Given the description of an element on the screen output the (x, y) to click on. 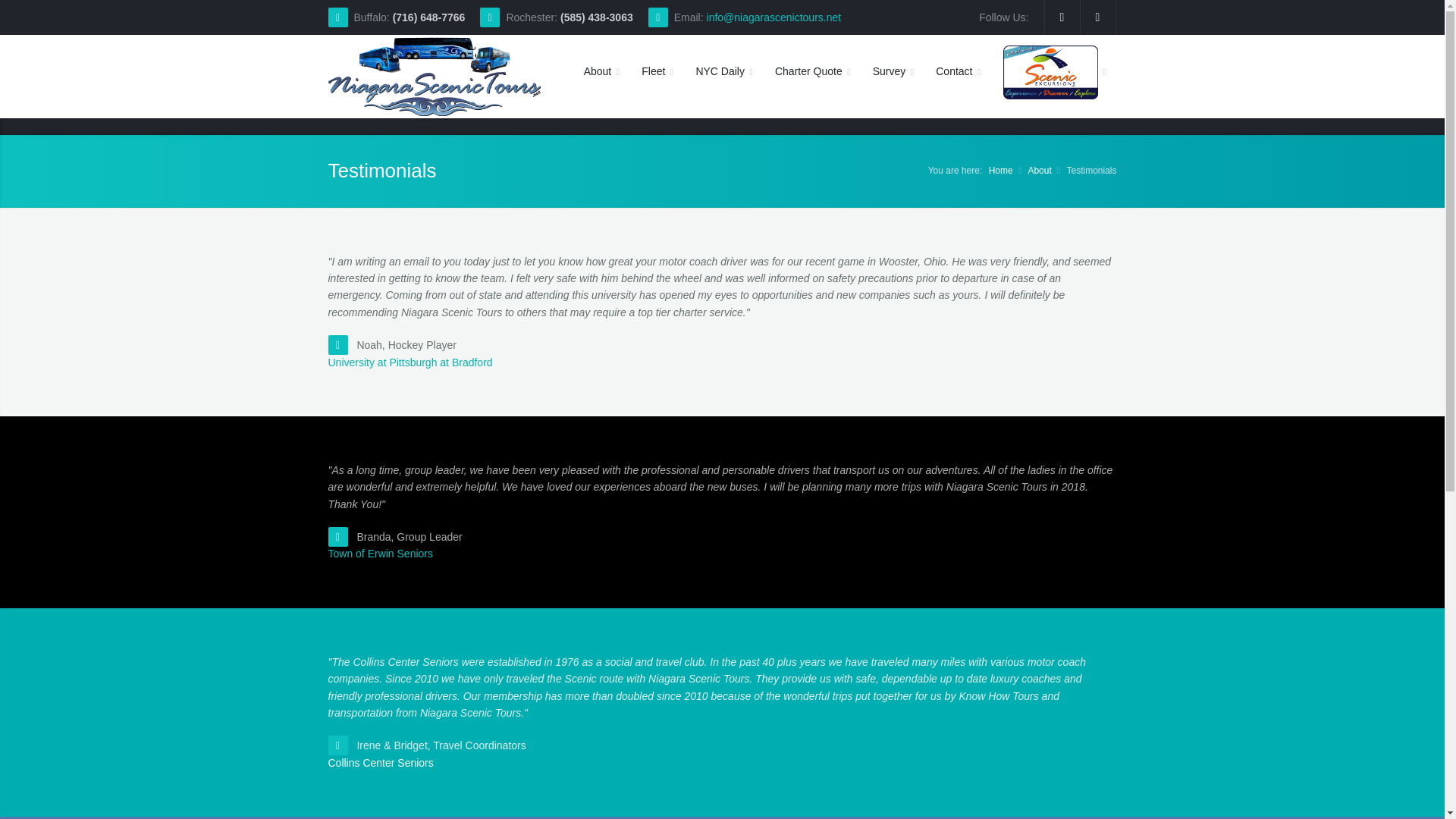
NYC Daily (723, 71)
Home (1000, 170)
Contact (957, 71)
About (1039, 170)
Charter Quote (811, 71)
